Given the description of an element on the screen output the (x, y) to click on. 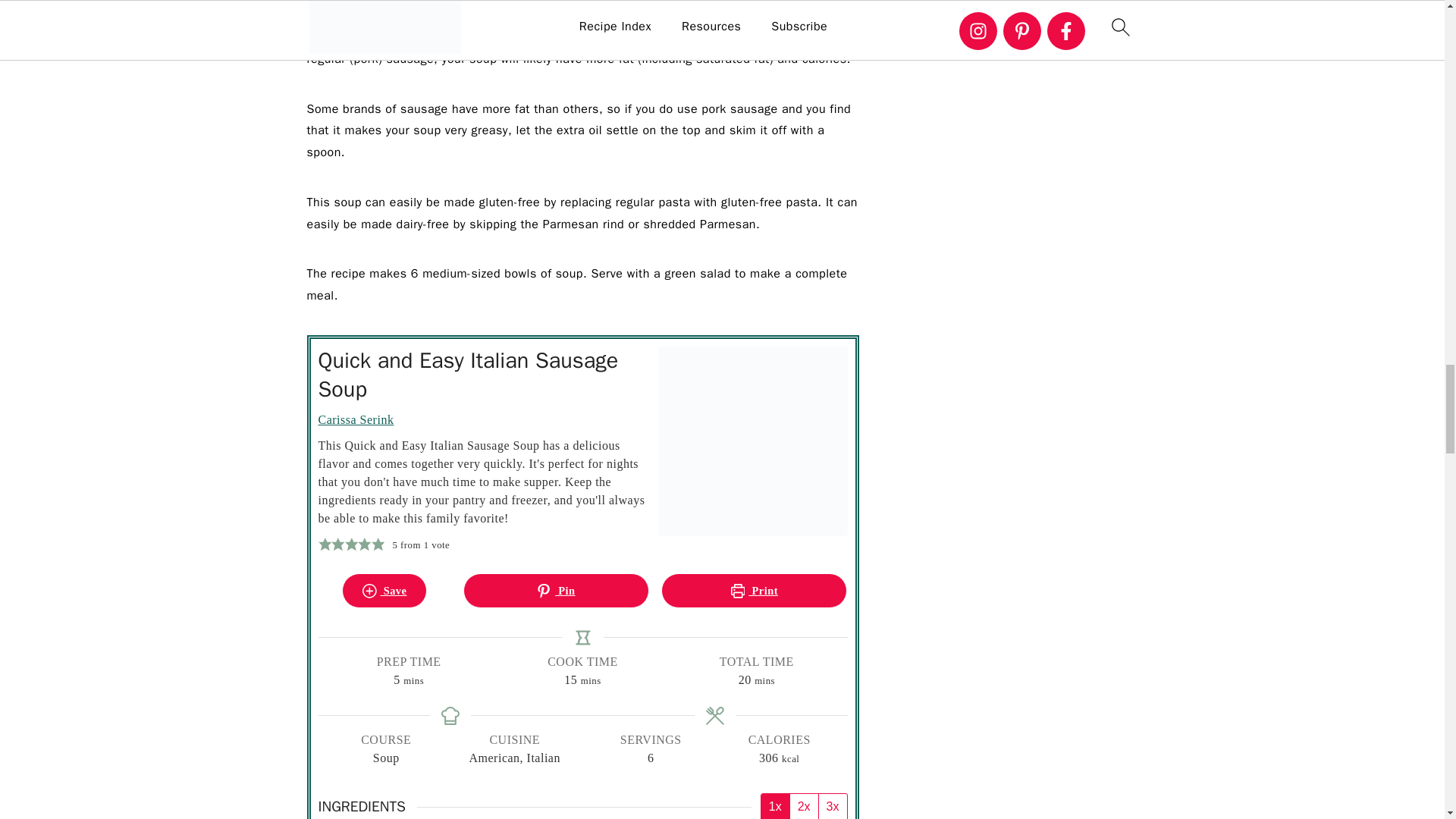
Quick and Easy Italian Sausage Soup (752, 441)
